Given the description of an element on the screen output the (x, y) to click on. 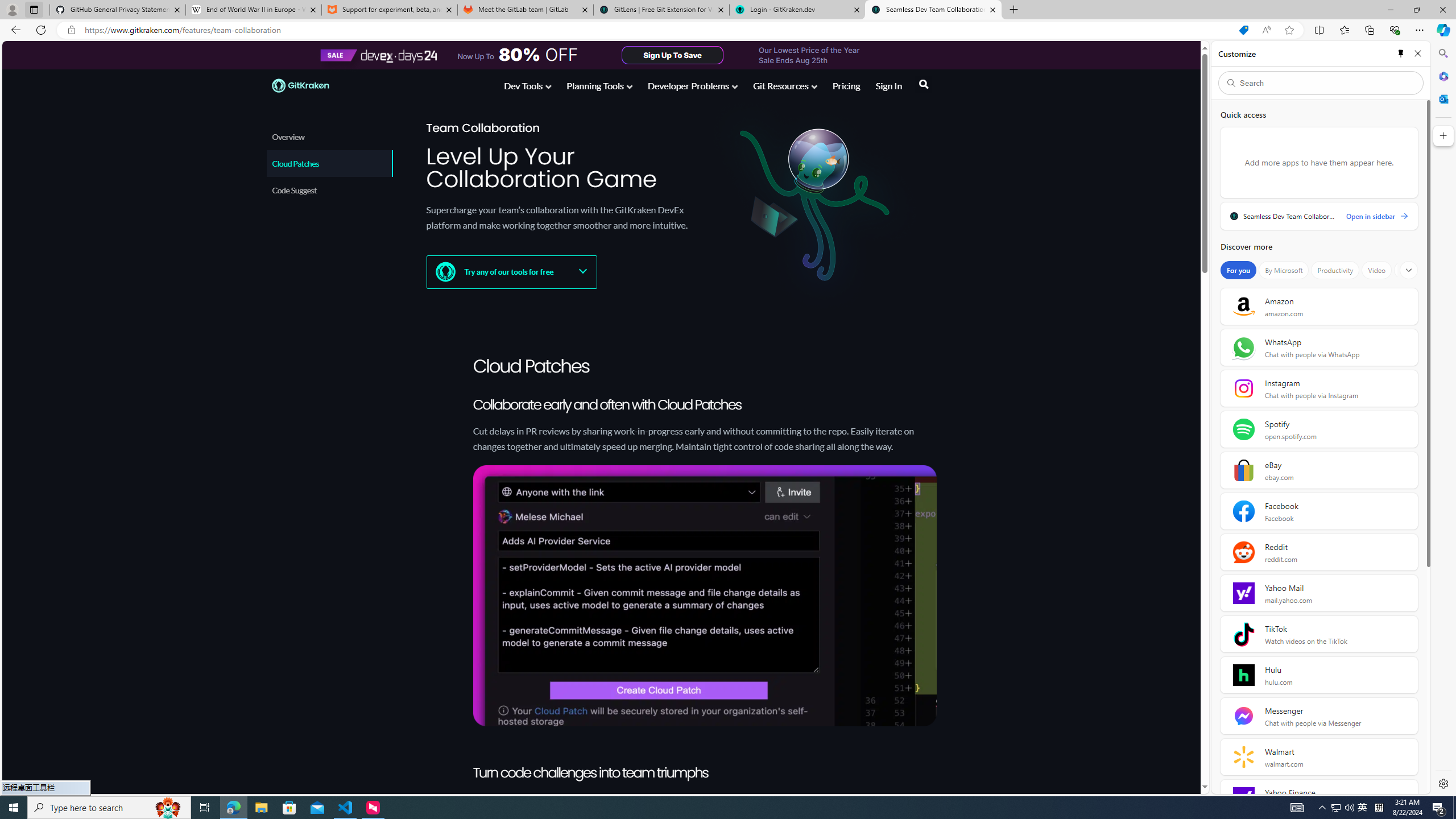
Video (1376, 270)
Overview (329, 136)
Overview (328, 136)
